Given the description of an element on the screen output the (x, y) to click on. 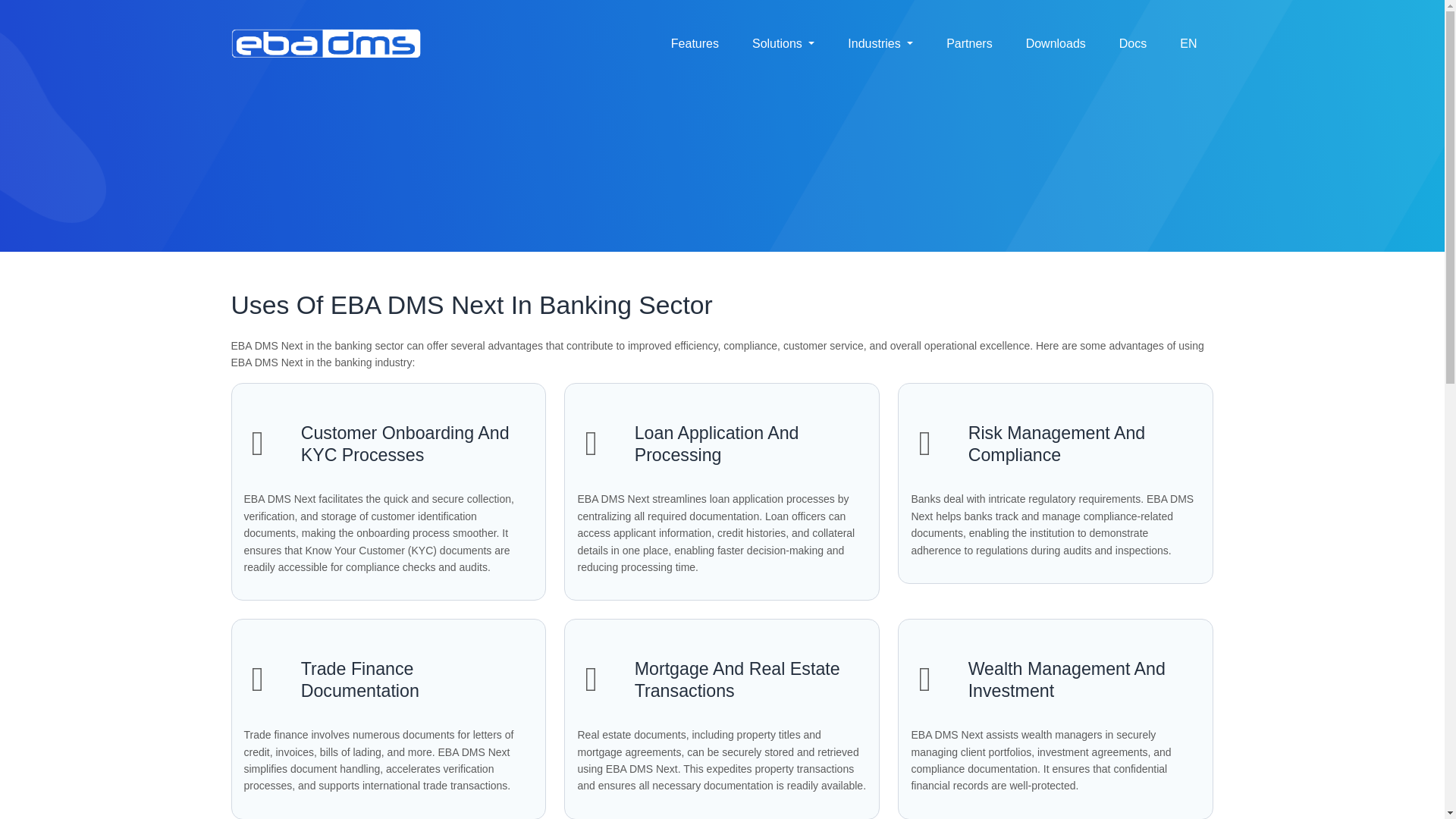
Industries (880, 43)
Features (694, 43)
Solutions (783, 43)
